Given the description of an element on the screen output the (x, y) to click on. 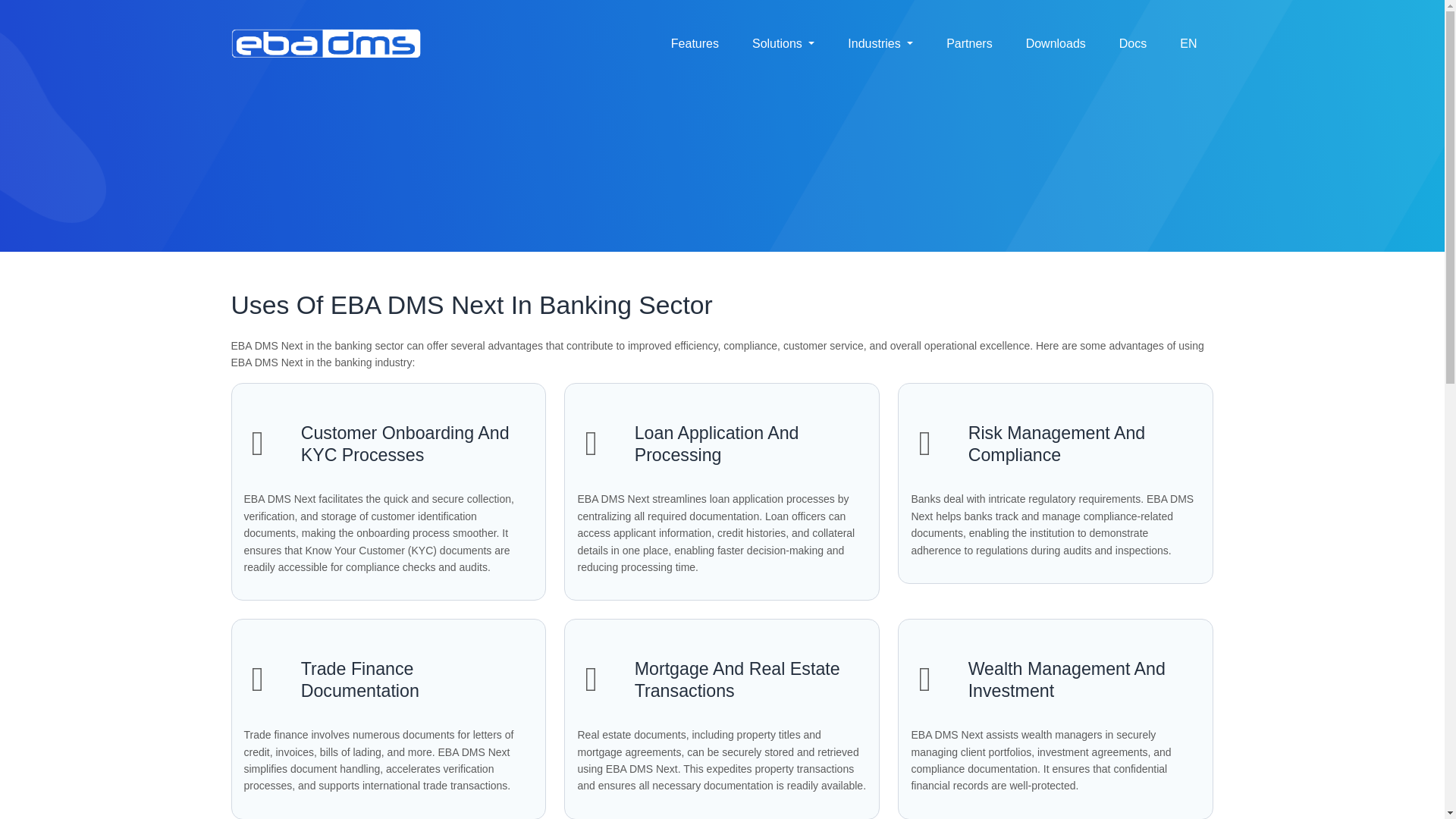
Industries (880, 43)
Features (694, 43)
Solutions (783, 43)
